Given the description of an element on the screen output the (x, y) to click on. 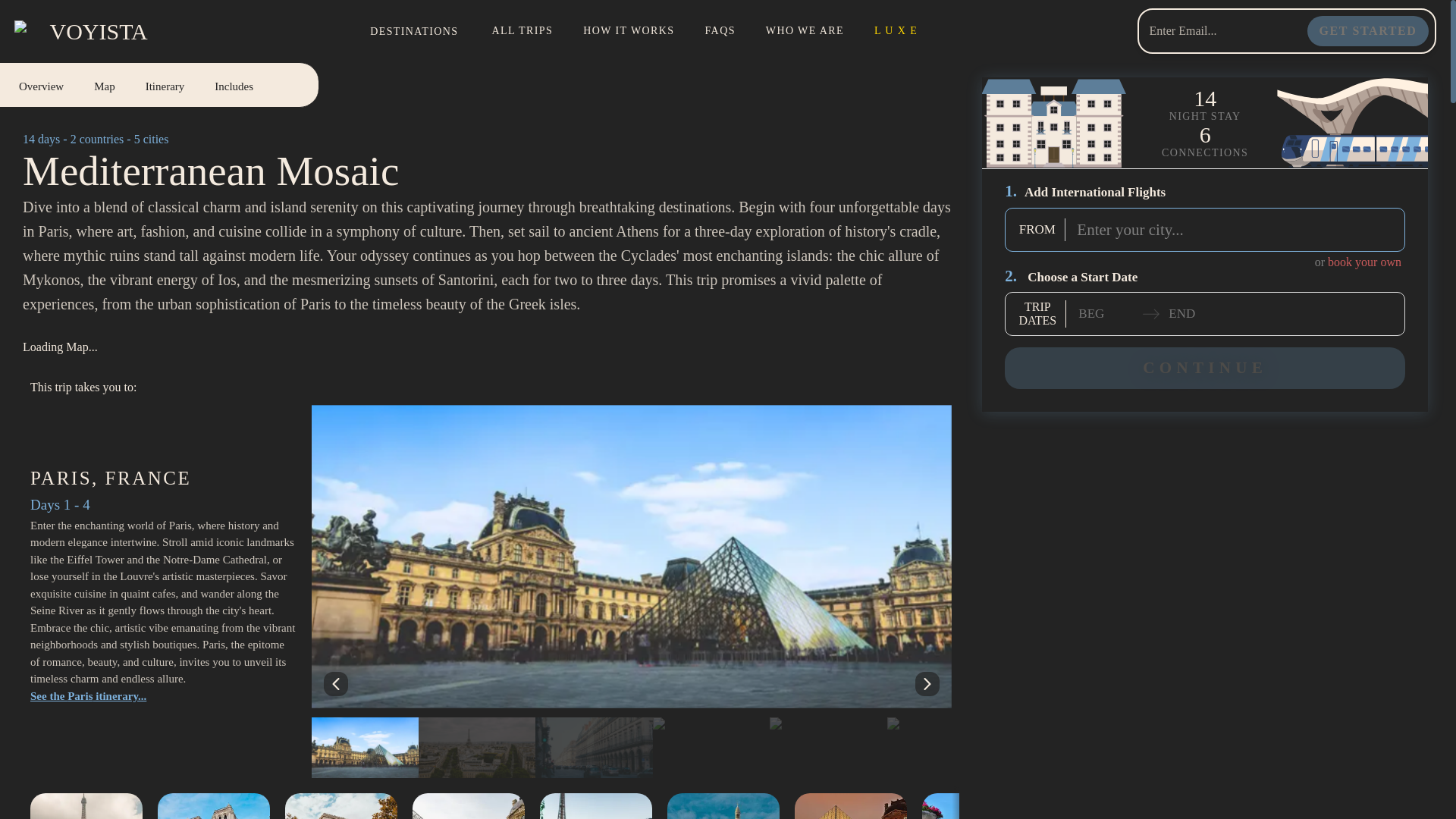
ALL TRIPS (522, 30)
Includes (233, 84)
Map (149, 84)
Itinerary (104, 84)
WHO WE ARE (165, 84)
GET STARTED (159, 84)
Overview (805, 30)
HOW IT WORKS (1368, 30)
FAQS (48, 84)
VOYISTA (627, 30)
L U X E (719, 30)
